Given the description of an element on the screen output the (x, y) to click on. 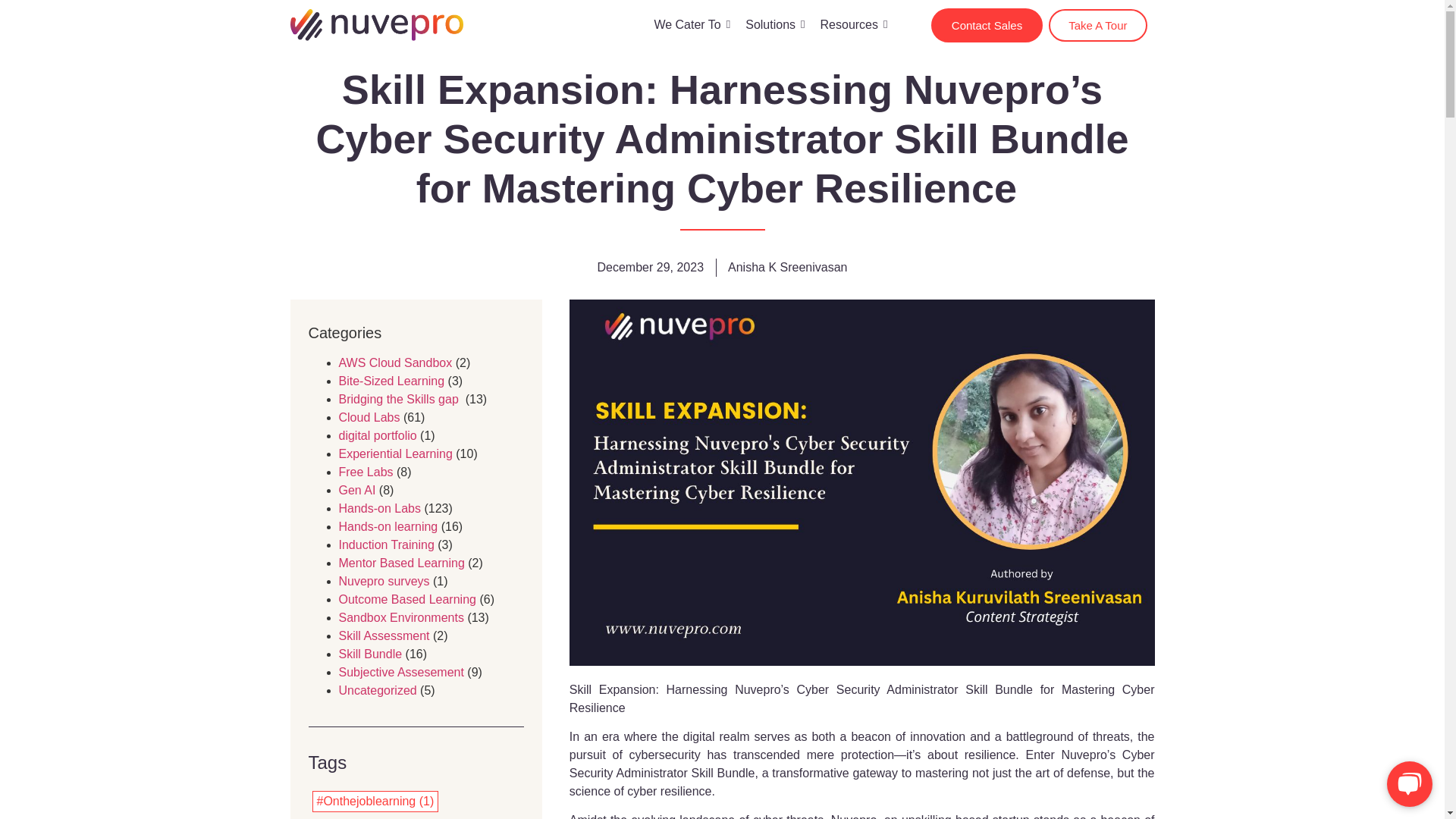
We Cater To (691, 24)
Resources (854, 24)
Solutions (775, 24)
